Given the description of an element on the screen output the (x, y) to click on. 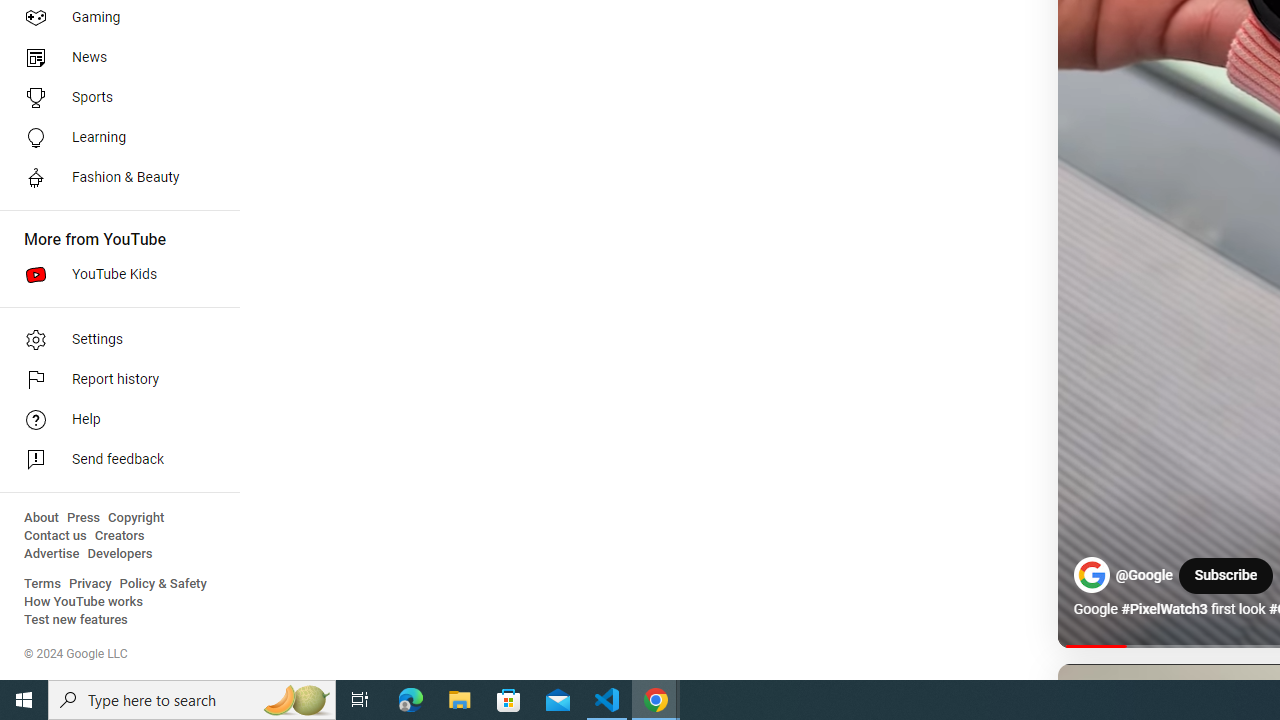
@Google (1144, 575)
Contact us (55, 536)
#PixelWatch3 (1164, 609)
How YouTube works (83, 602)
Report history (113, 380)
Press (83, 518)
Learning (113, 137)
Policy & Safety (163, 584)
Subscribe (1225, 576)
Send feedback (113, 459)
Copyright (136, 518)
Developers (120, 554)
Advertise (51, 554)
